Given the description of an element on the screen output the (x, y) to click on. 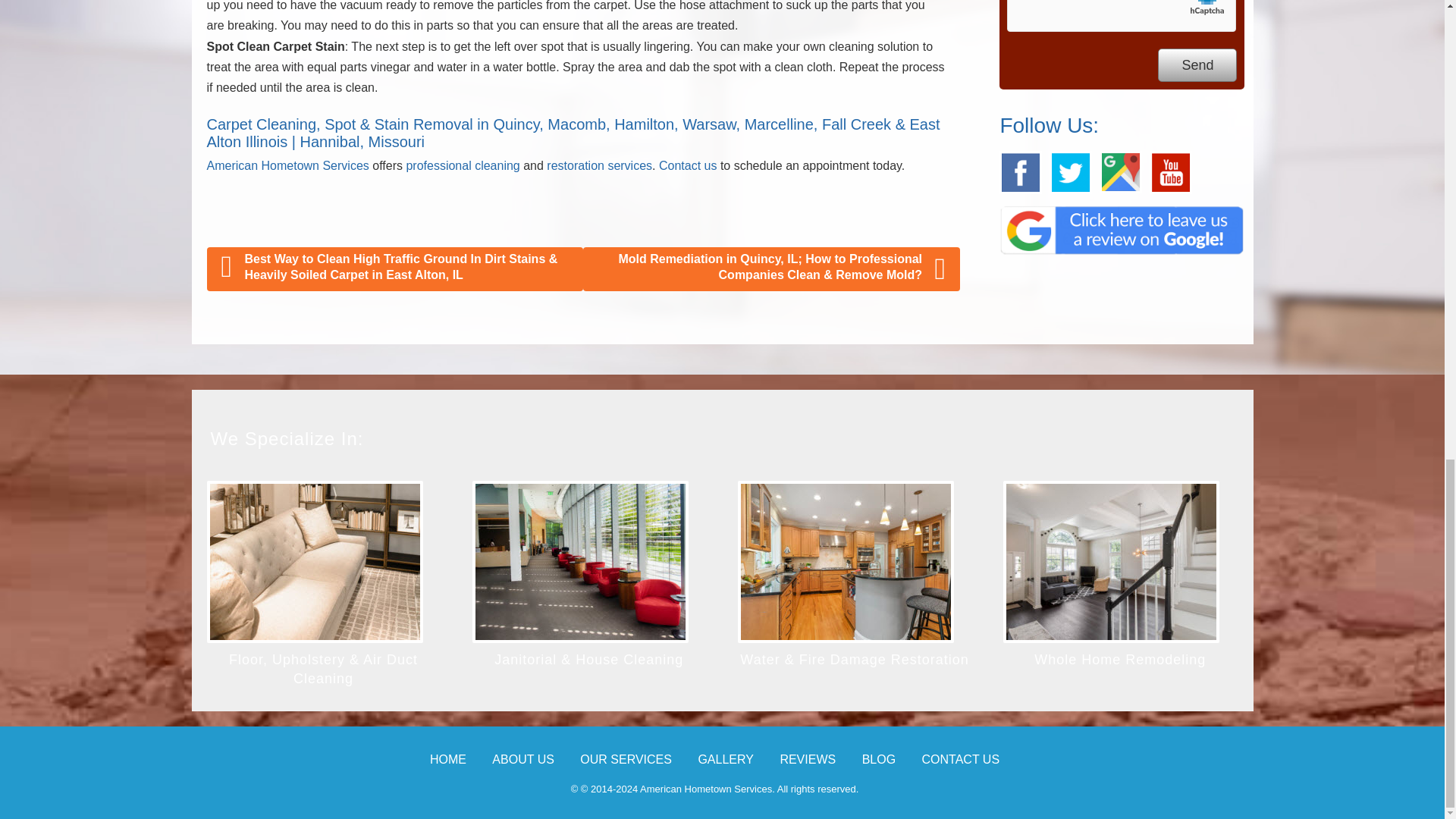
Send (1196, 65)
professional cleaning (462, 164)
American Hometown Services (287, 164)
